Given the description of an element on the screen output the (x, y) to click on. 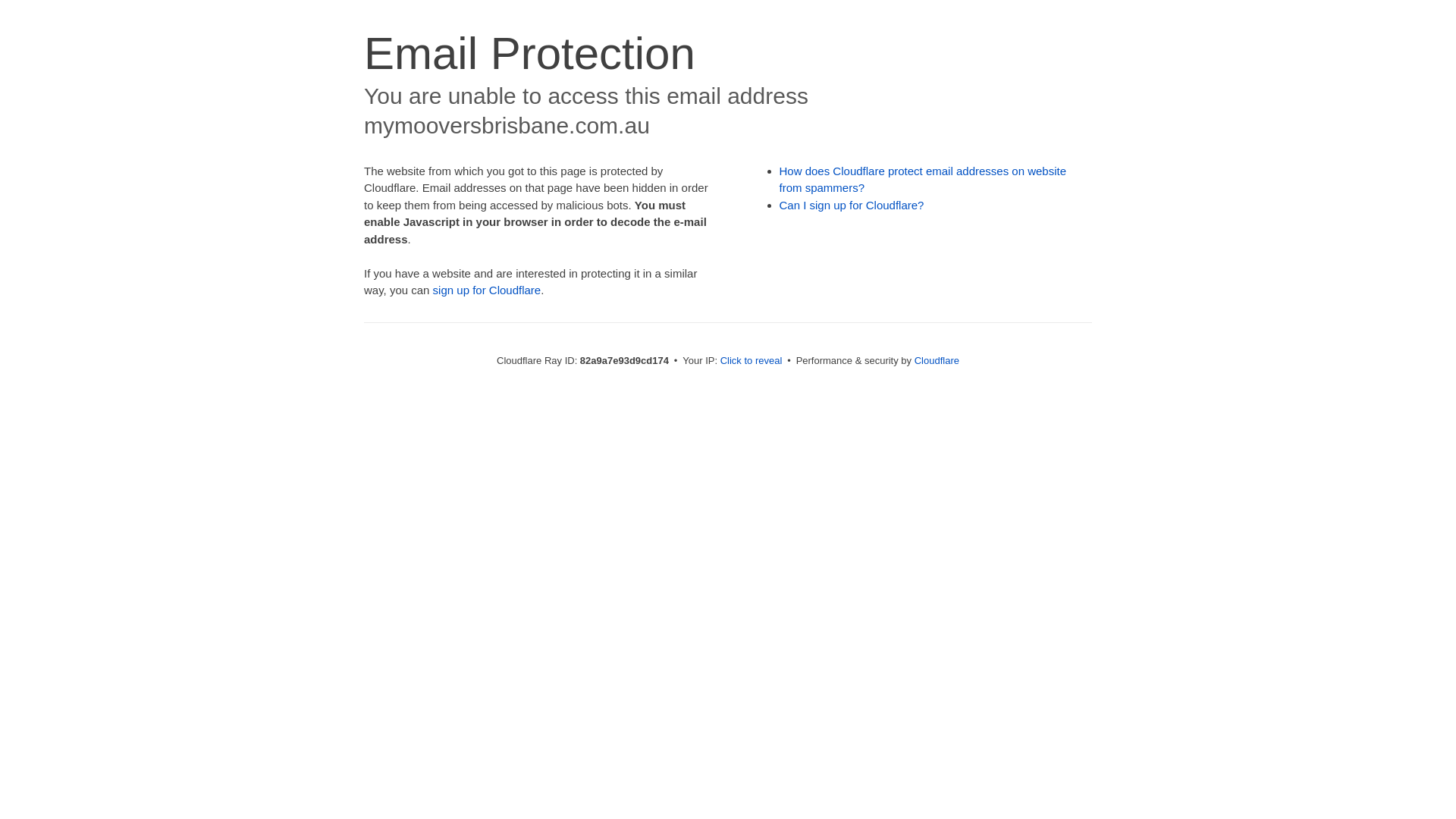
Cloudflare Element type: text (936, 360)
sign up for Cloudflare Element type: text (487, 289)
Click to reveal Element type: text (751, 360)
Can I sign up for Cloudflare? Element type: text (851, 204)
